Given the description of an element on the screen output the (x, y) to click on. 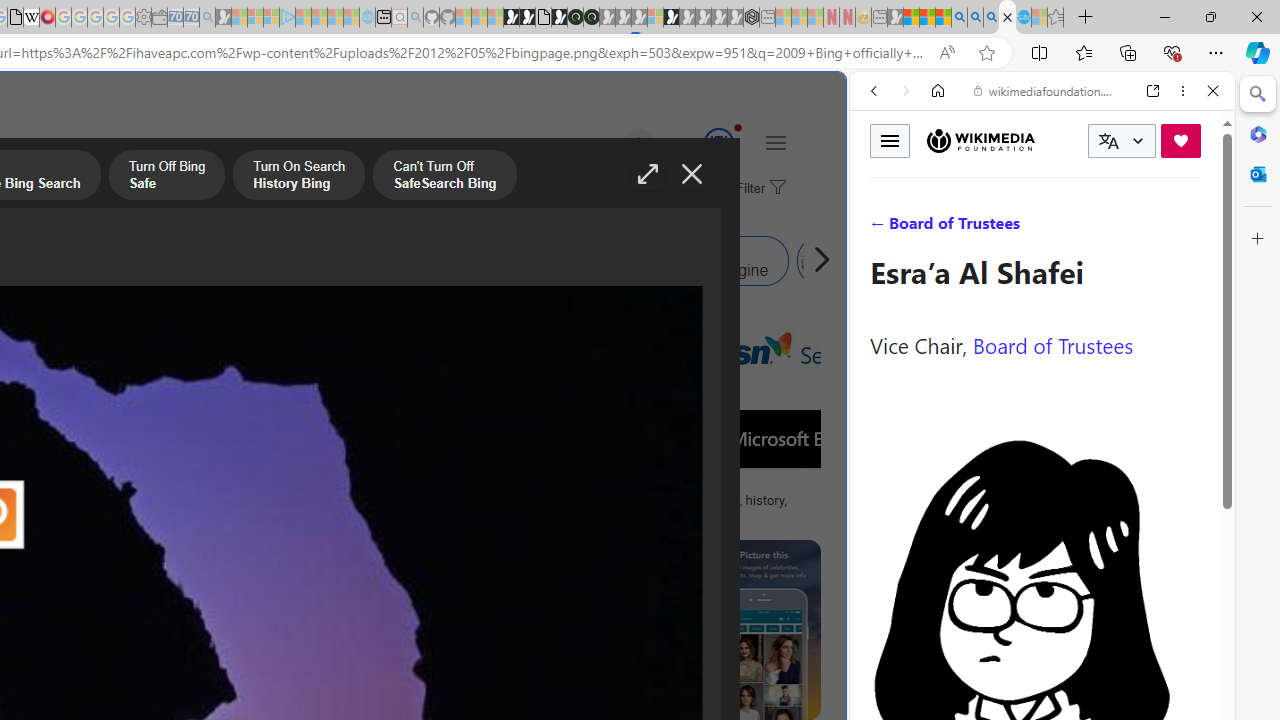
Donate now (1180, 140)
MediaWiki (47, 17)
Owner of Bing Search Engine (680, 260)
Owner of Bing Search Engine (597, 260)
